Given the description of an element on the screen output the (x, y) to click on. 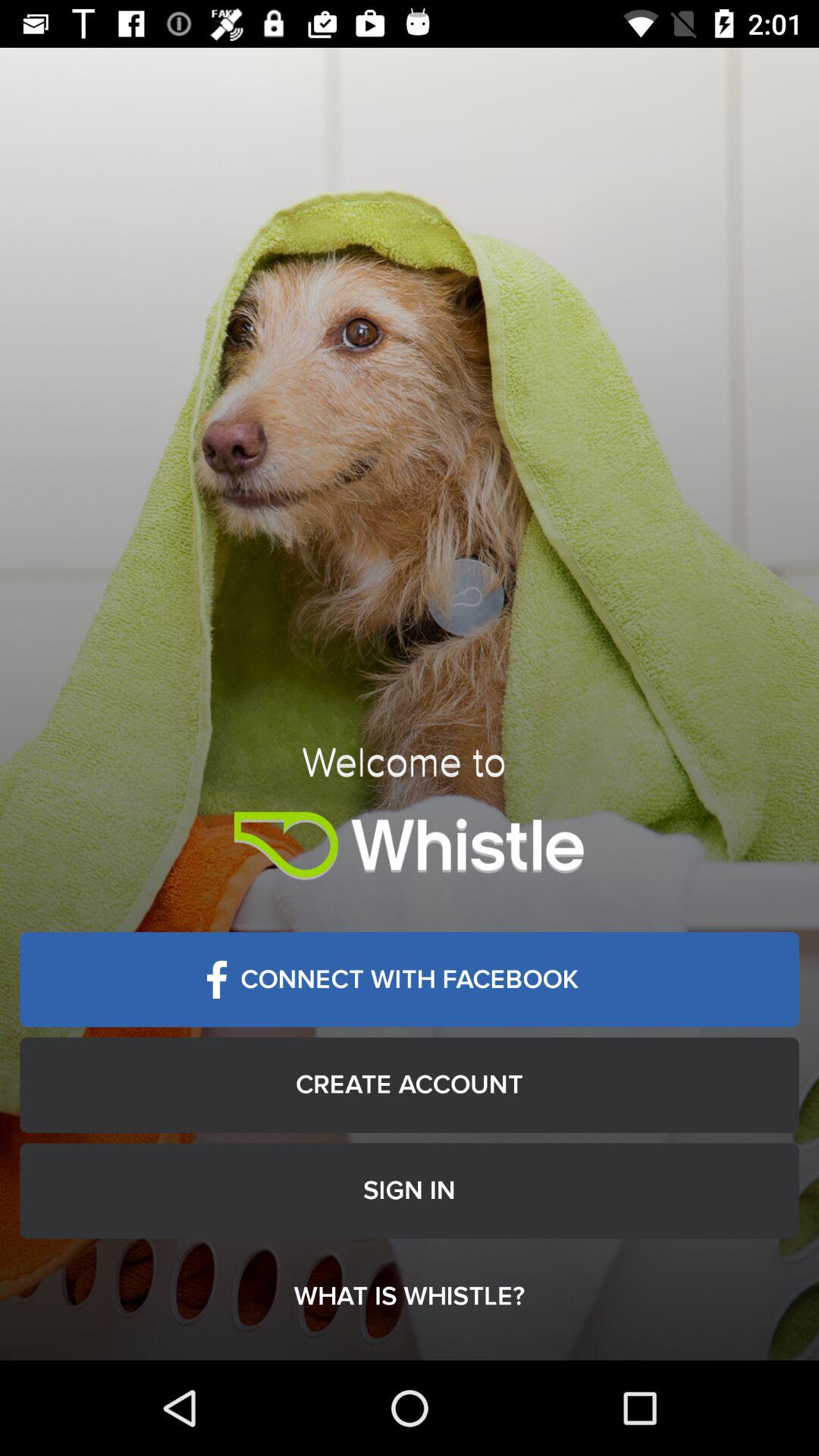
turn on the icon above the what is whistle? icon (409, 1190)
